Given the description of an element on the screen output the (x, y) to click on. 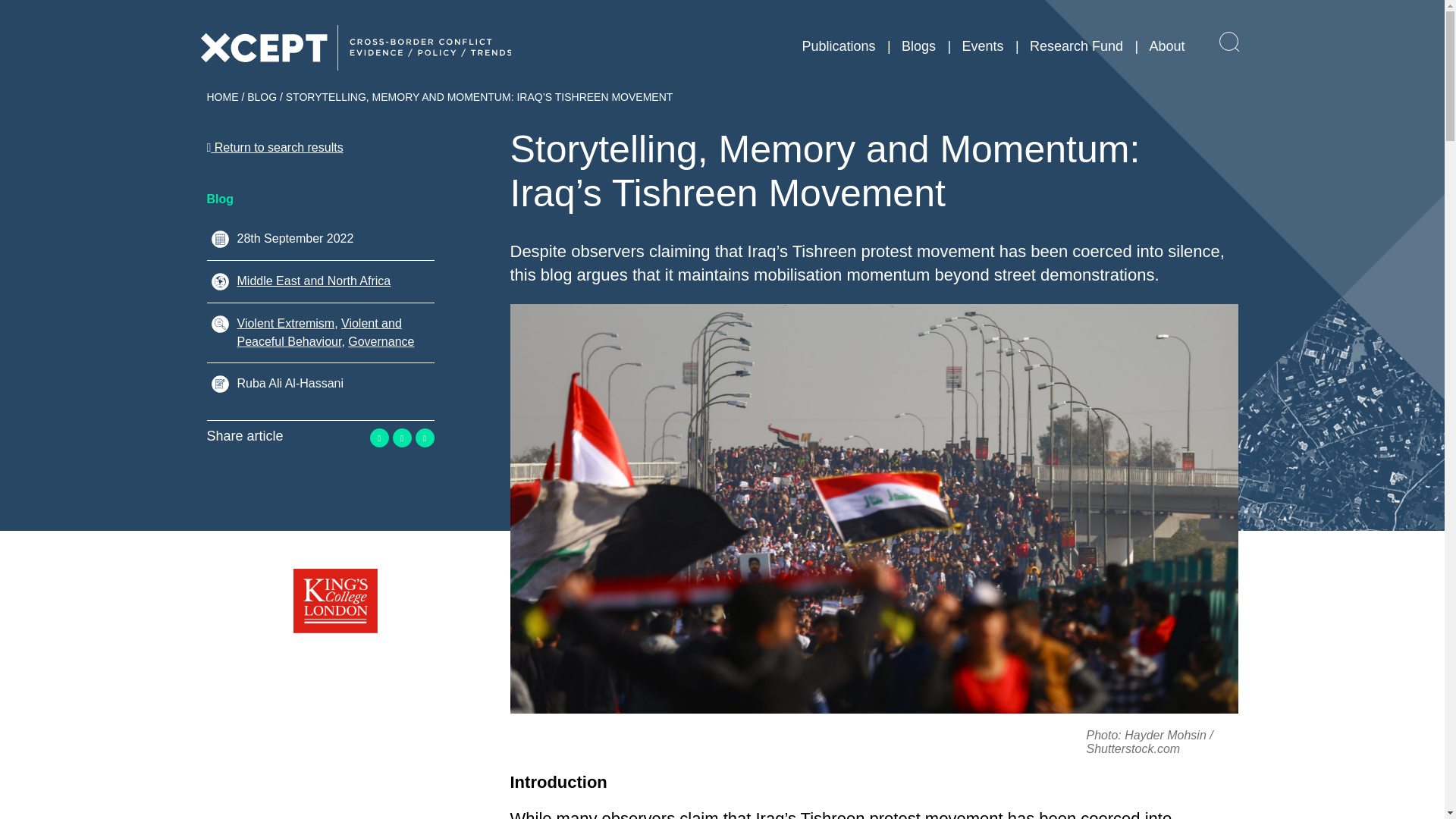
HOME (222, 96)
Events (981, 46)
Middle East and North Africa (312, 280)
Violent and Peaceful Behaviour (318, 332)
Governance (380, 341)
Publications (838, 46)
BLOG (261, 96)
Blogs (918, 46)
Violent Extremism (284, 323)
About (1166, 46)
Research Fund (1075, 46)
Ruba Ali Al-Hassani (289, 382)
Return to search results (274, 146)
